Given the description of an element on the screen output the (x, y) to click on. 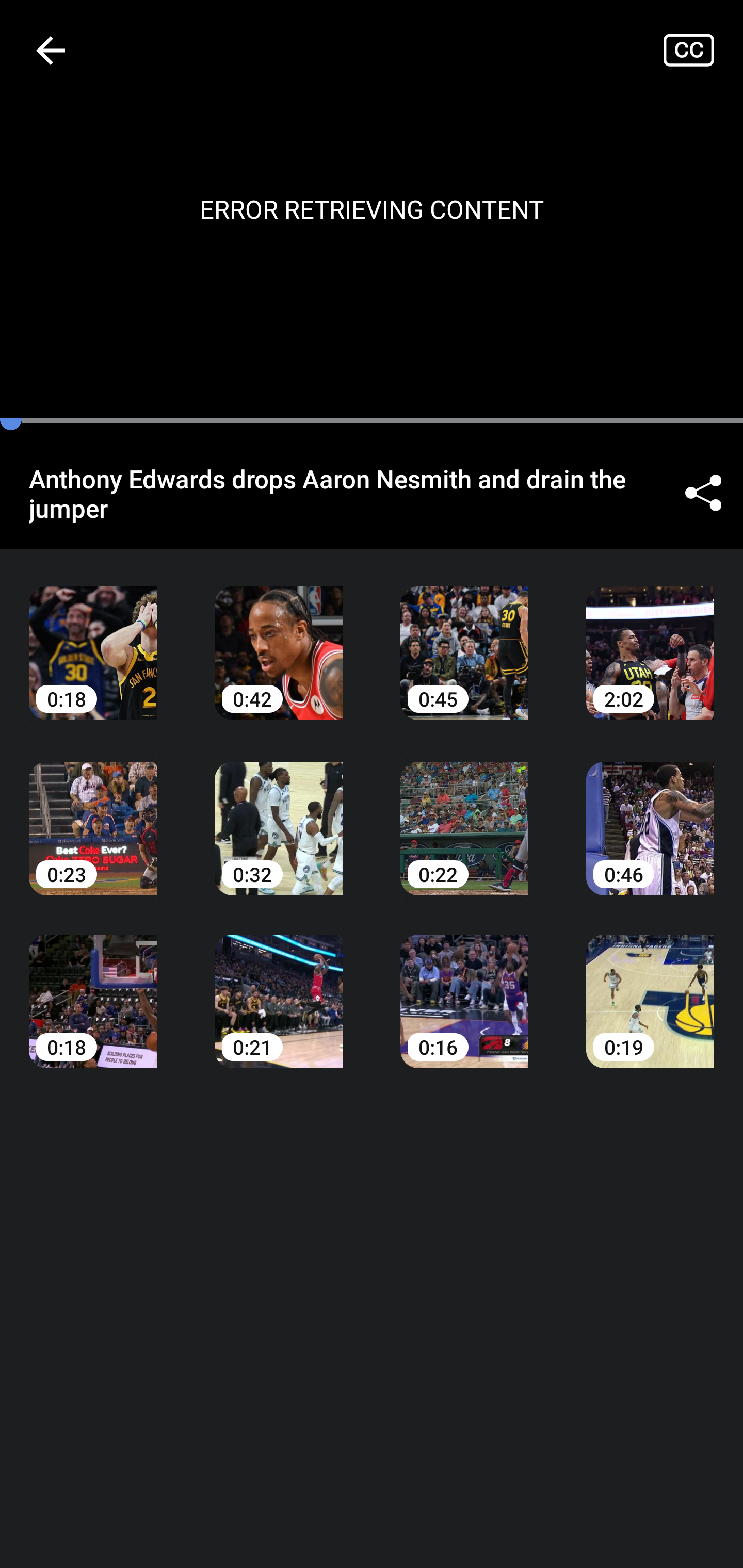
Navigate up (50, 50)
Closed captions  (703, 49)
Share © (703, 493)
0:18 (92, 637)
0:42 (278, 637)
0:45 (464, 637)
2:02 (650, 637)
0:23 (92, 813)
0:32 (278, 813)
0:22 (464, 813)
0:46 (650, 813)
0:18 (92, 987)
0:21 (278, 987)
0:16 (464, 987)
0:19 (650, 987)
